Given the description of an element on the screen output the (x, y) to click on. 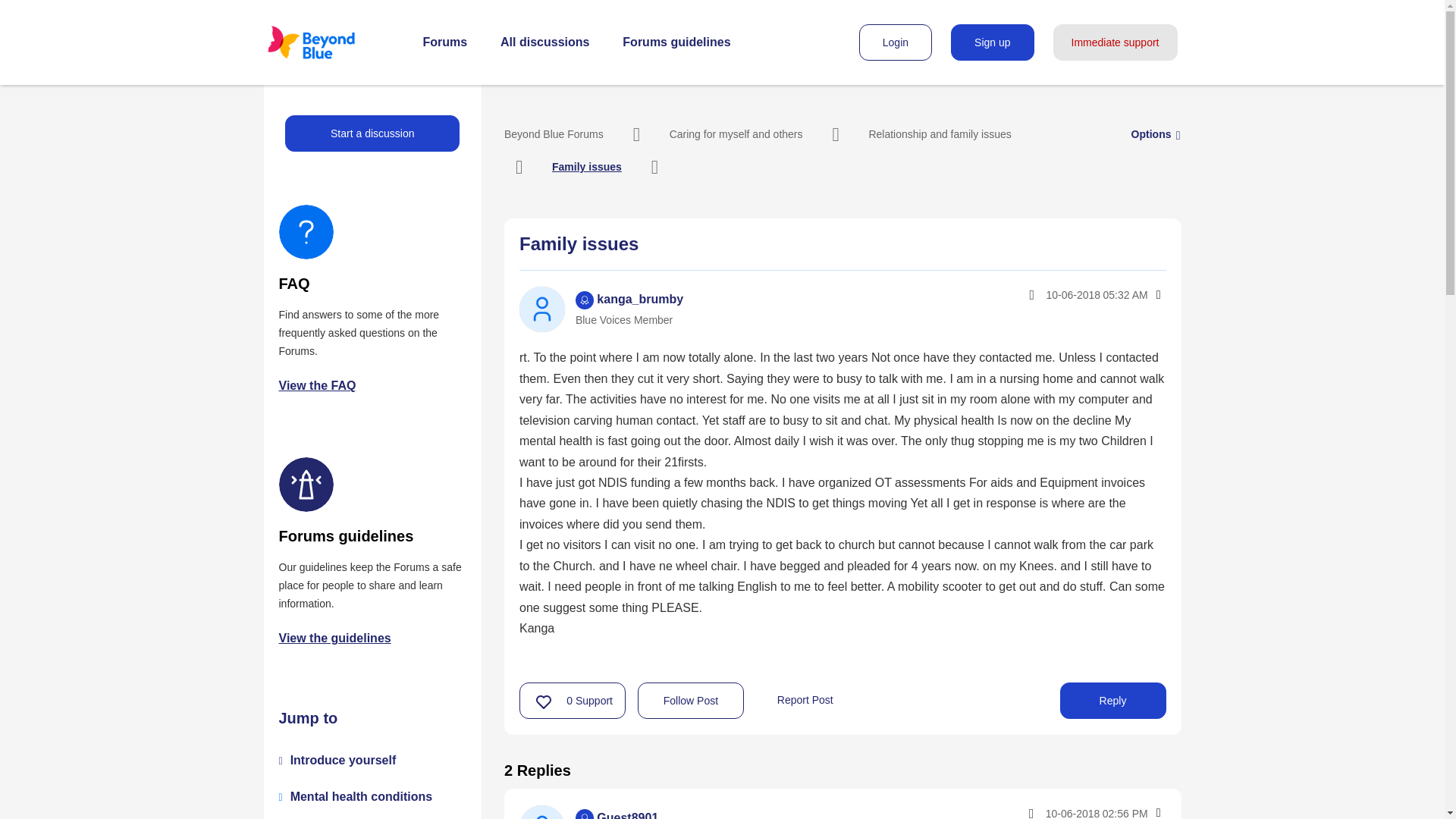
Guest8901 (541, 812)
Relationship and family issues (938, 133)
Forums (445, 41)
Caring for myself and others (736, 133)
Mental health conditions (360, 796)
Posted on (1063, 812)
Blue Voices Member (584, 300)
Options (1157, 294)
Login (895, 42)
Blue Voices Member (584, 814)
Sign up (991, 42)
Show option menu (1157, 294)
Introduce yourself (342, 759)
Forums guidelines (676, 41)
Options (1150, 133)
